Given the description of an element on the screen output the (x, y) to click on. 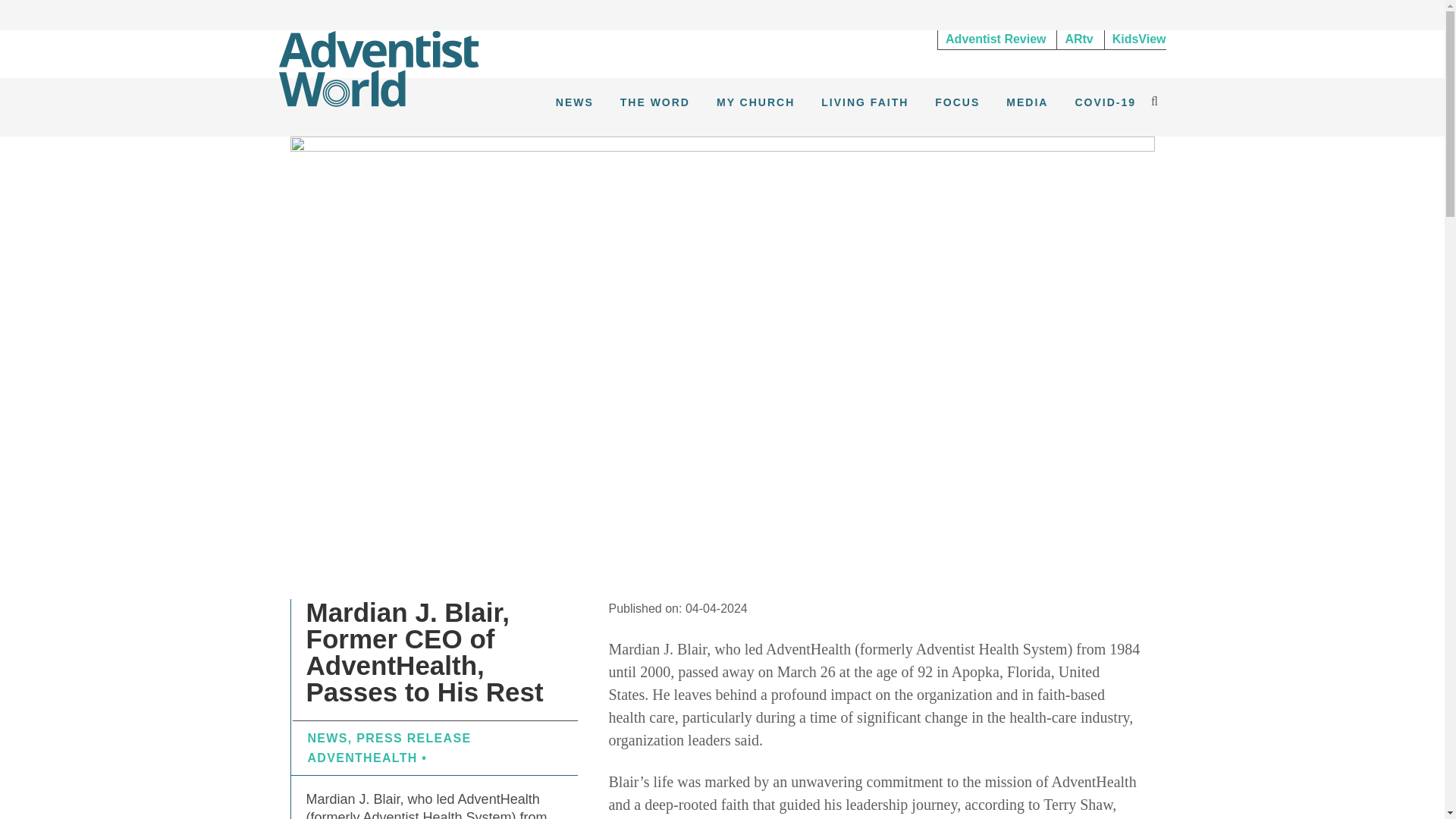
KidsView (1135, 39)
NEWS (327, 738)
ARtv (1078, 39)
PRESS RELEASE (413, 738)
LIVING FAITH (864, 101)
NEWS (574, 101)
Adventist Review (994, 39)
ADVENTHEALTH (362, 757)
FOCUS (957, 101)
To bind together the Adventist people. (379, 67)
